Given the description of an element on the screen output the (x, y) to click on. 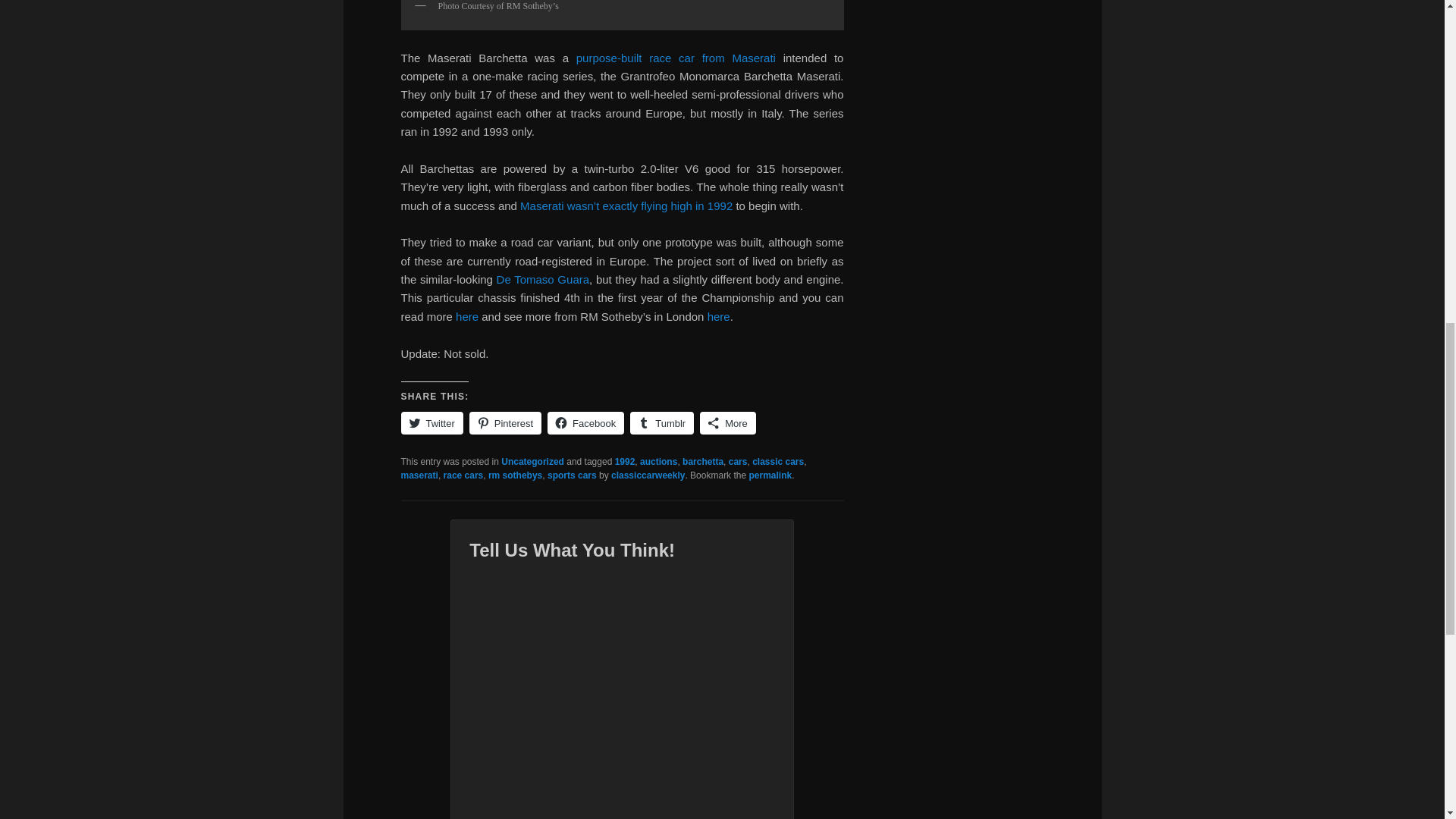
Comment Form (621, 690)
Click to share on Tumblr (662, 422)
Click to share on Facebook (585, 422)
Permalink to 1992 Maserati Barchetta (770, 475)
Click to share on Twitter (431, 422)
Click to share on Pinterest (504, 422)
